Given the description of an element on the screen output the (x, y) to click on. 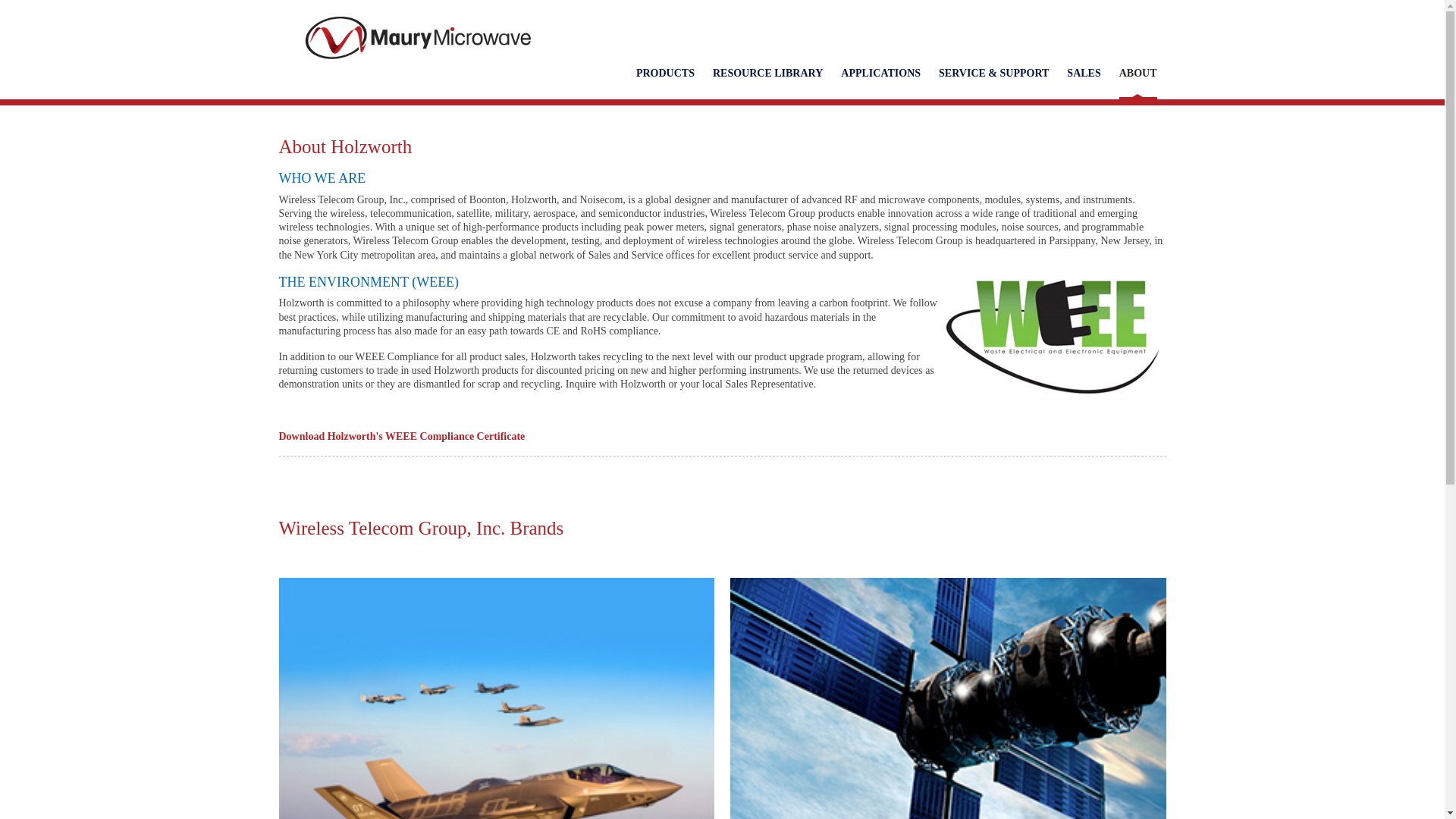
APPLICATIONS (880, 74)
PRODUCTS (665, 74)
Login (1140, 11)
Login (1140, 11)
Holzworth (416, 38)
RESOURCE LIBRARY (767, 74)
